Given the description of an element on the screen output the (x, y) to click on. 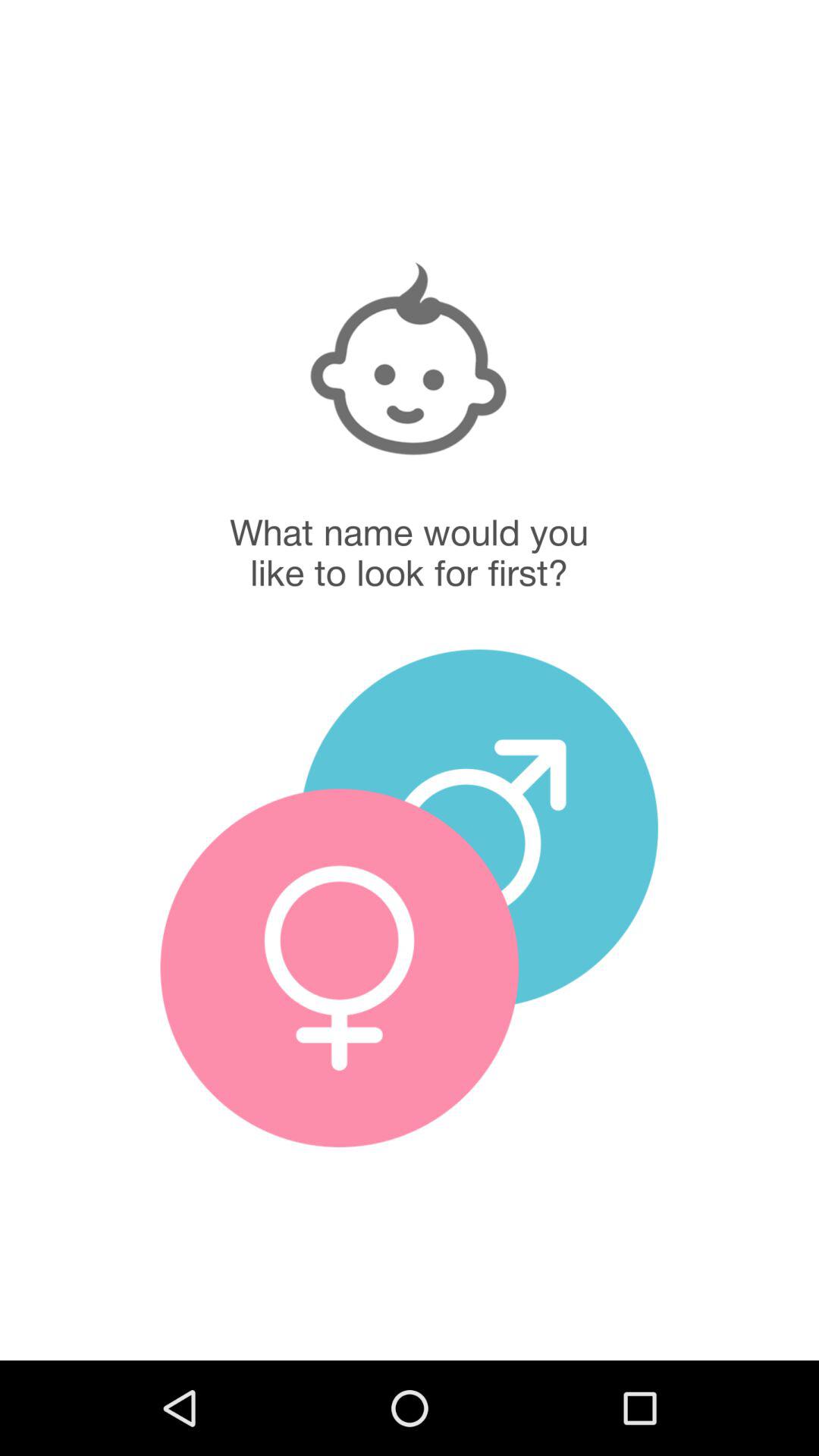
launch the icon below what name would item (478, 828)
